Given the description of an element on the screen output the (x, y) to click on. 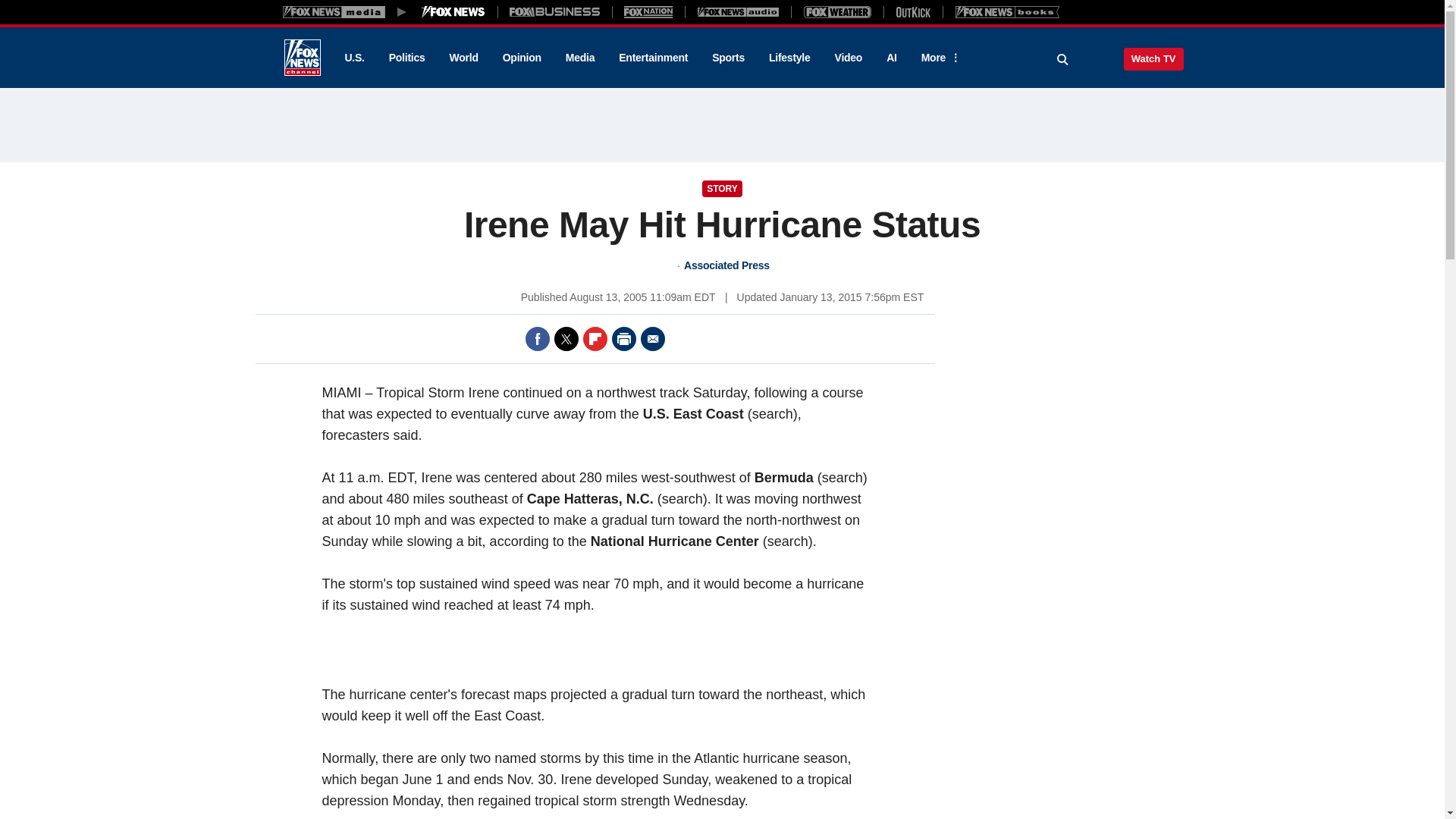
Video (848, 57)
More (938, 57)
Fox News Audio (737, 11)
Fox Weather (836, 11)
Politics (407, 57)
Fox News Media (453, 11)
Books (1007, 11)
Watch TV (1153, 58)
Outkick (912, 11)
AI (891, 57)
